Given the description of an element on the screen output the (x, y) to click on. 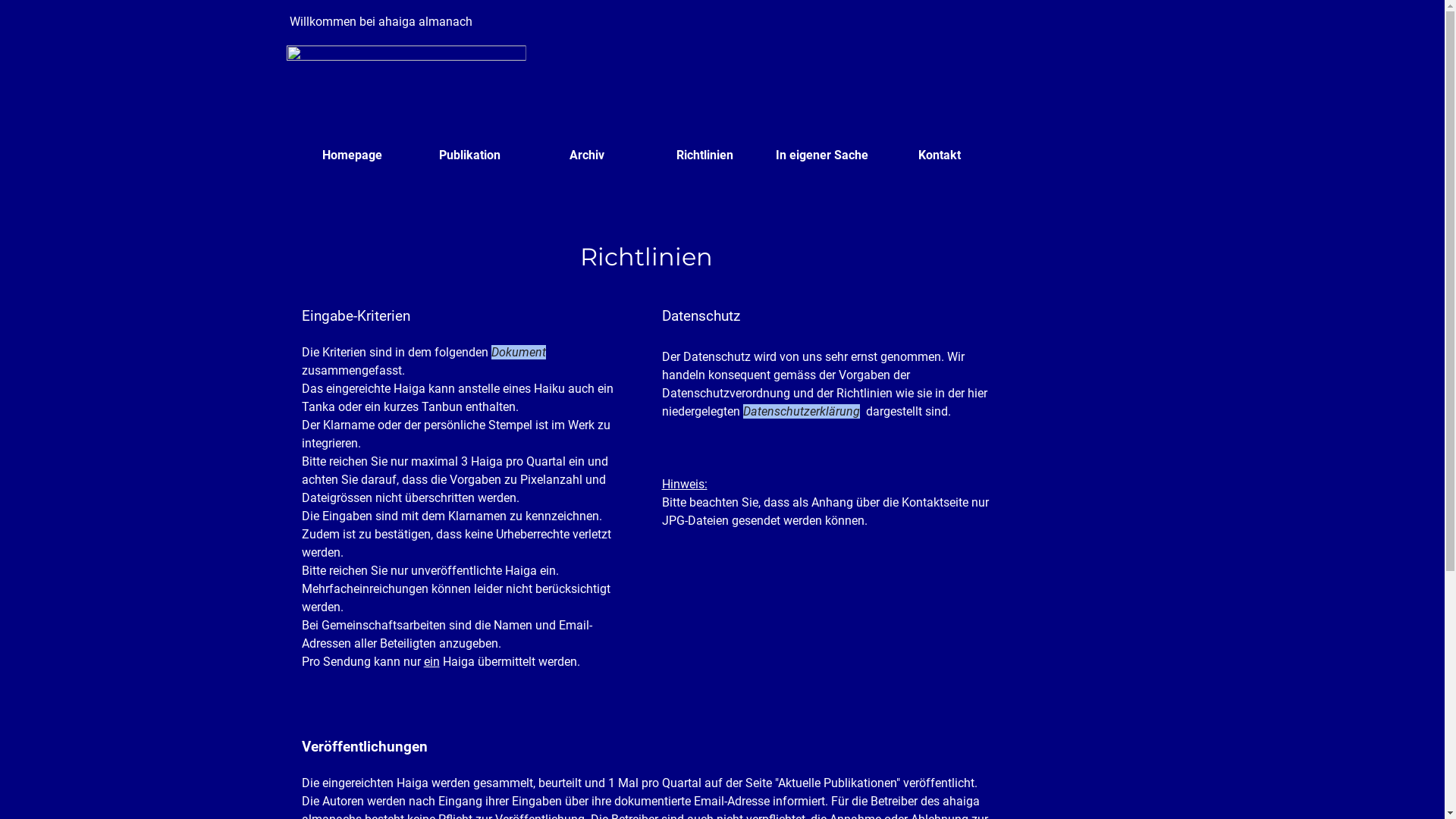
Kontakt Element type: text (939, 154)
Homepage Element type: text (351, 154)
Publikation Element type: text (469, 154)
Dokument Element type: text (518, 352)
